Given the description of an element on the screen output the (x, y) to click on. 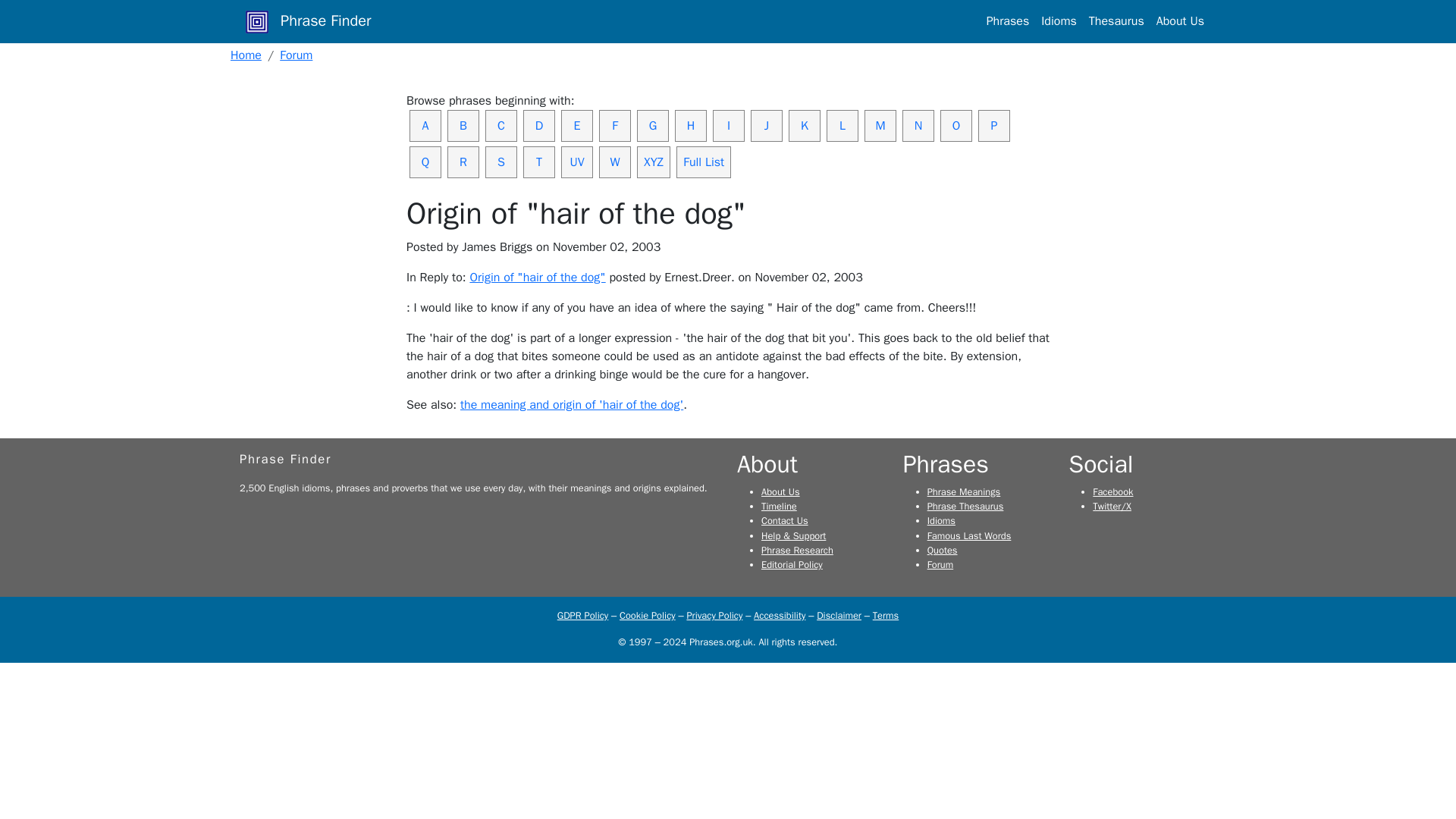
Forum (296, 55)
Q (425, 162)
Timeline (778, 506)
UV (576, 162)
Sayings and idioms that begin with the letter J (767, 125)
Sayings and idioms that begin with the letter S (500, 162)
S (500, 162)
Sayings and idioms that begin with the letter I (728, 125)
the meaning and origin of 'hair of the dog' (571, 404)
Sayings and idioms that begin with the letter G (652, 125)
